Given the description of an element on the screen output the (x, y) to click on. 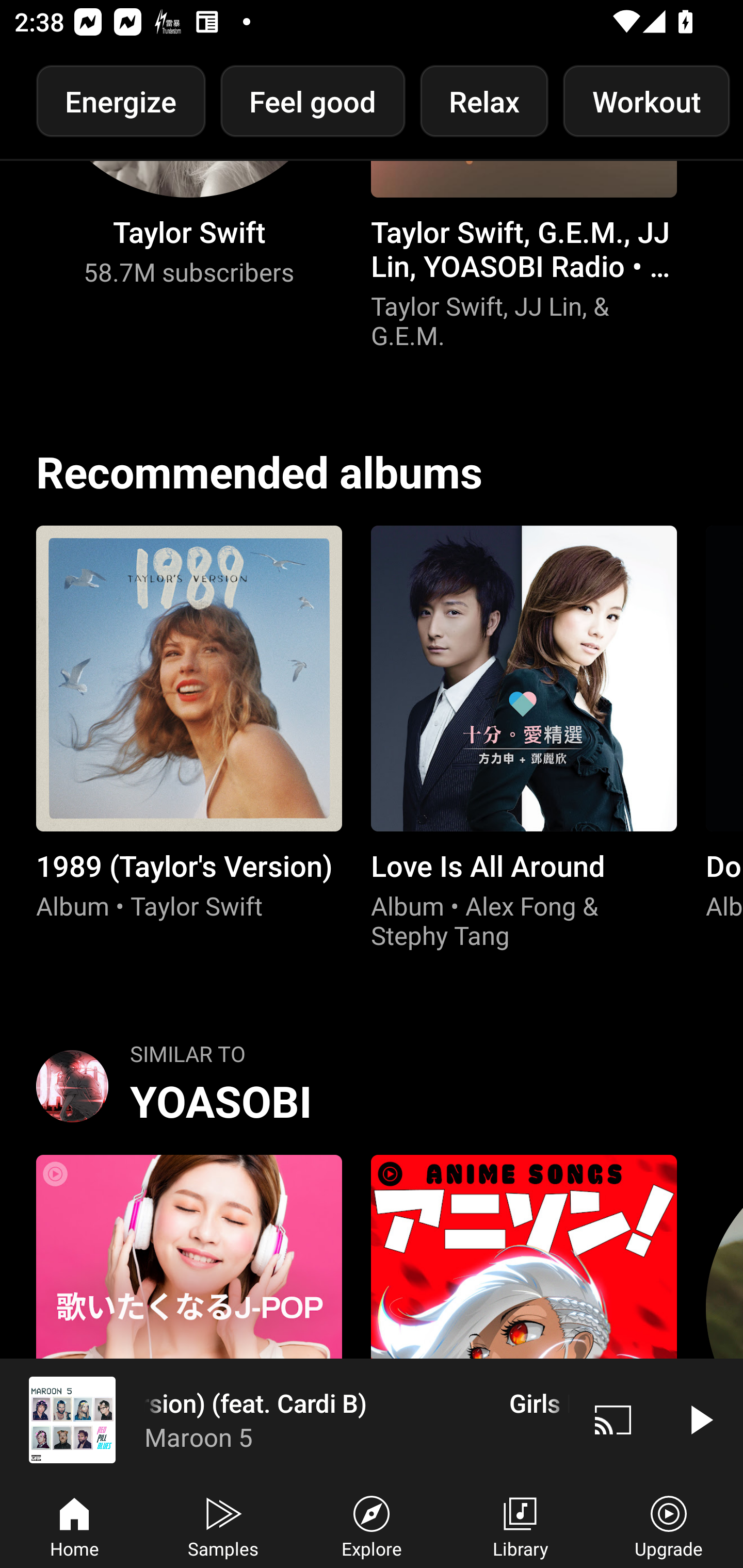
Cast. Disconnected (612, 1419)
Play video (699, 1419)
Home (74, 1524)
Samples (222, 1524)
Explore (371, 1524)
Library (519, 1524)
Upgrade (668, 1524)
